Given the description of an element on the screen output the (x, y) to click on. 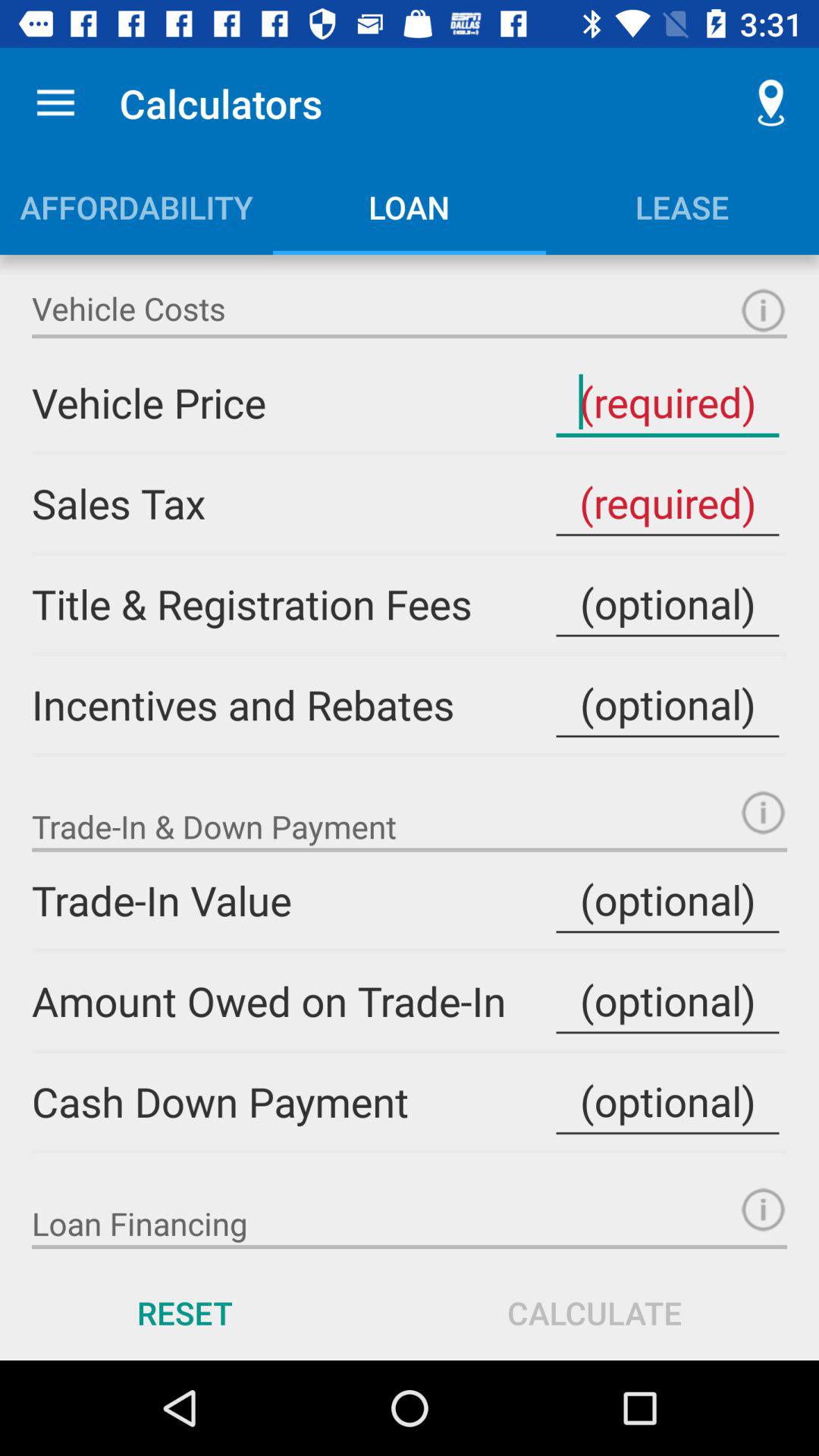
input amount owed on trade (667, 1000)
